Given the description of an element on the screen output the (x, y) to click on. 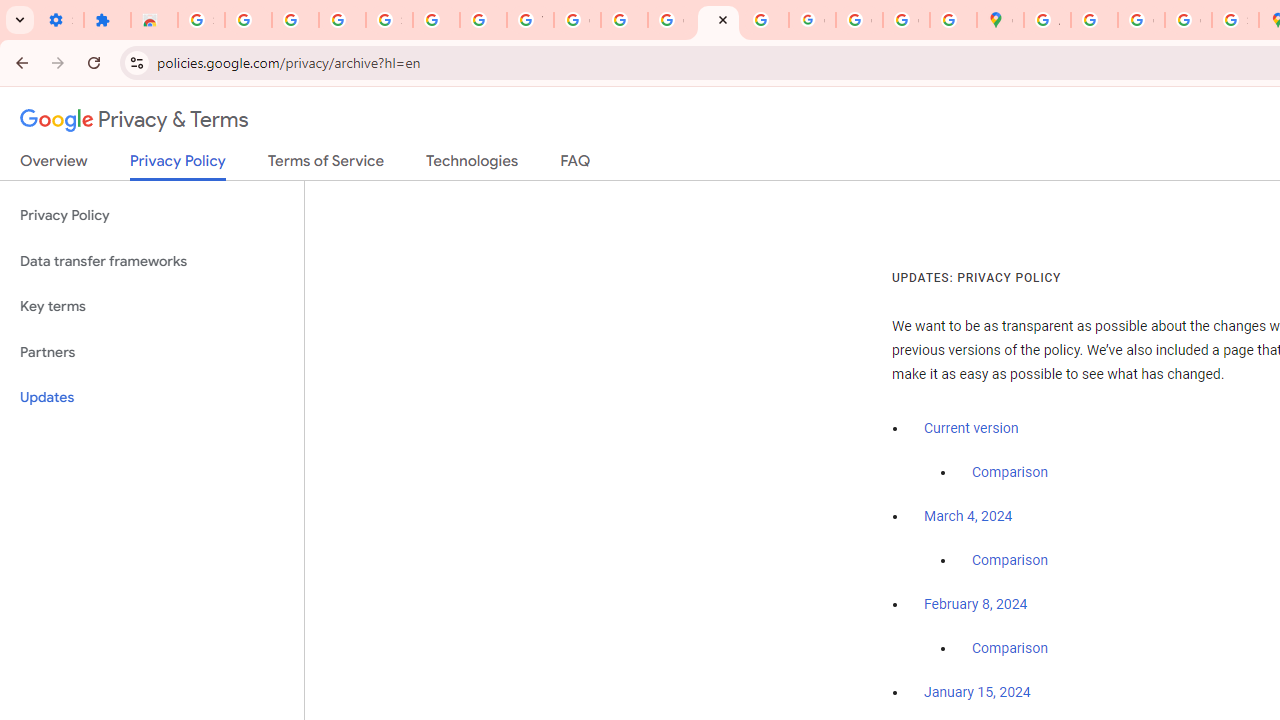
Create your Google Account (1140, 20)
